Given the description of an element on the screen output the (x, y) to click on. 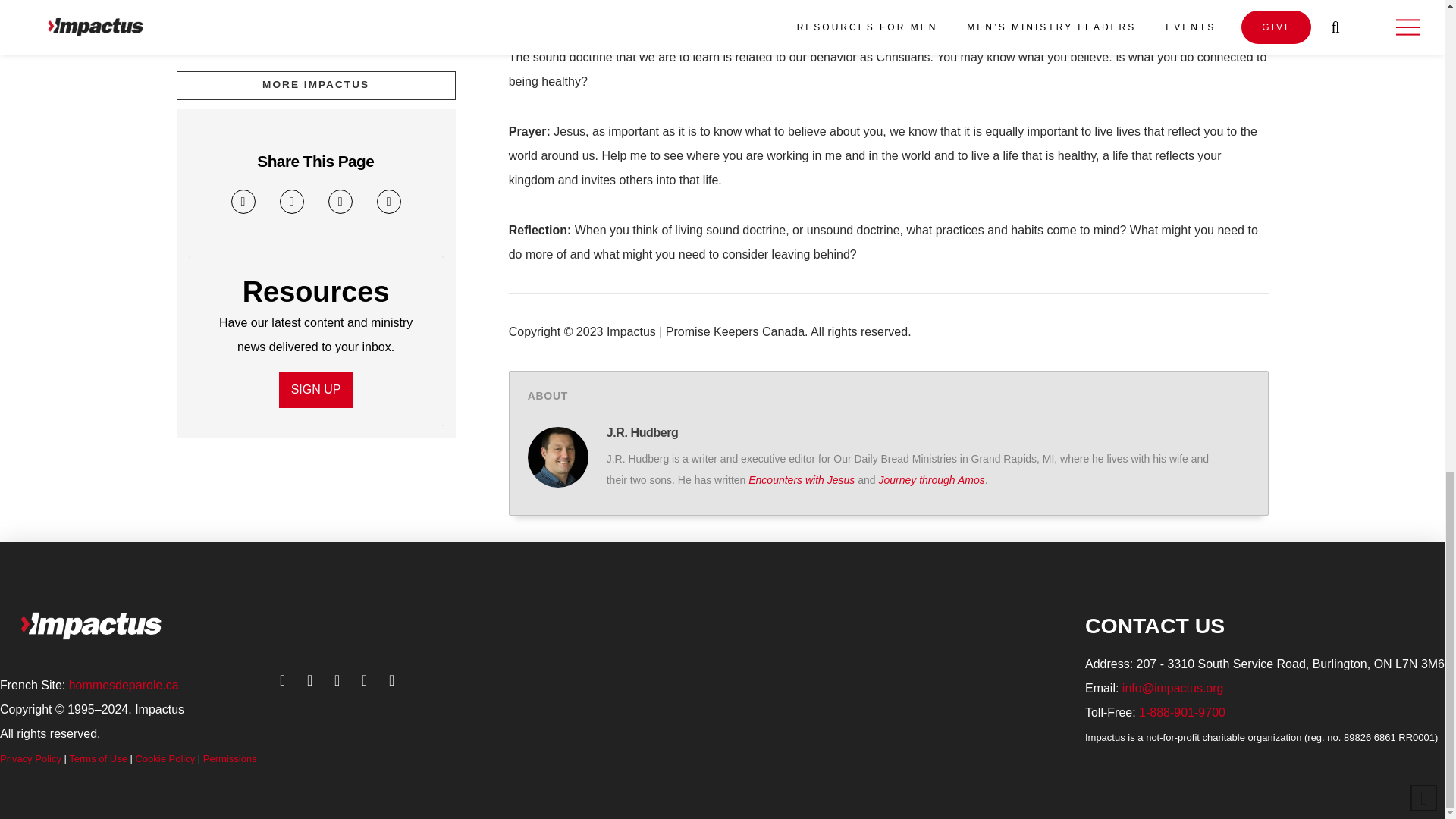
Journey through Amos (930, 480)
Encounters with Jesus (801, 480)
